Given the description of an element on the screen output the (x, y) to click on. 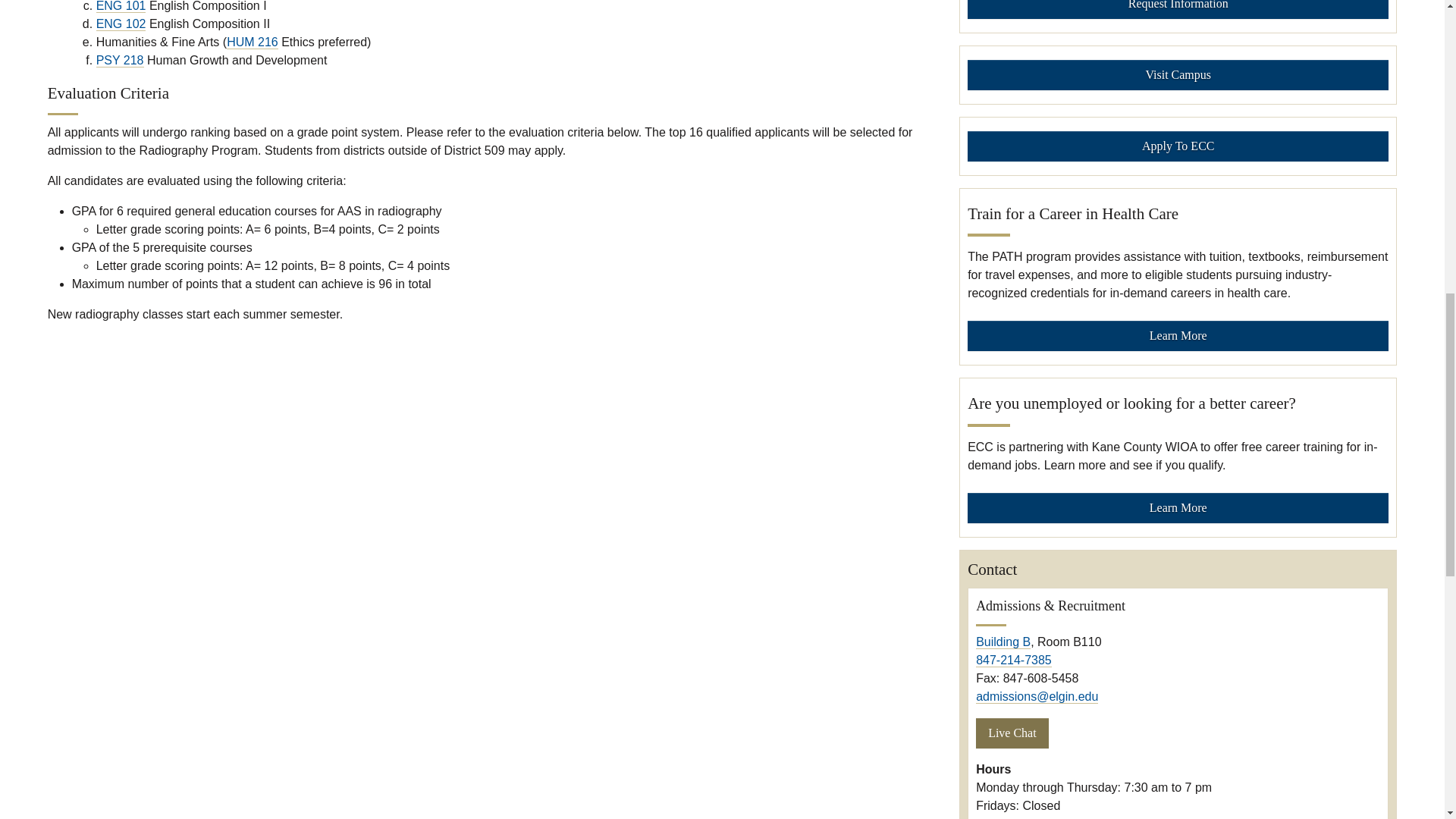
ECC Catalog Results for ENG 102 (121, 24)
View Building B on campus map. (1002, 642)
ECC Catalog Results for PSY 218 (120, 60)
ECC Catalog Results for HUM 216 (252, 42)
ECC Catalog Results for ENG 101 (121, 6)
Live Chat (1011, 733)
Call 847-214-7385 (1013, 660)
